Given the description of an element on the screen output the (x, y) to click on. 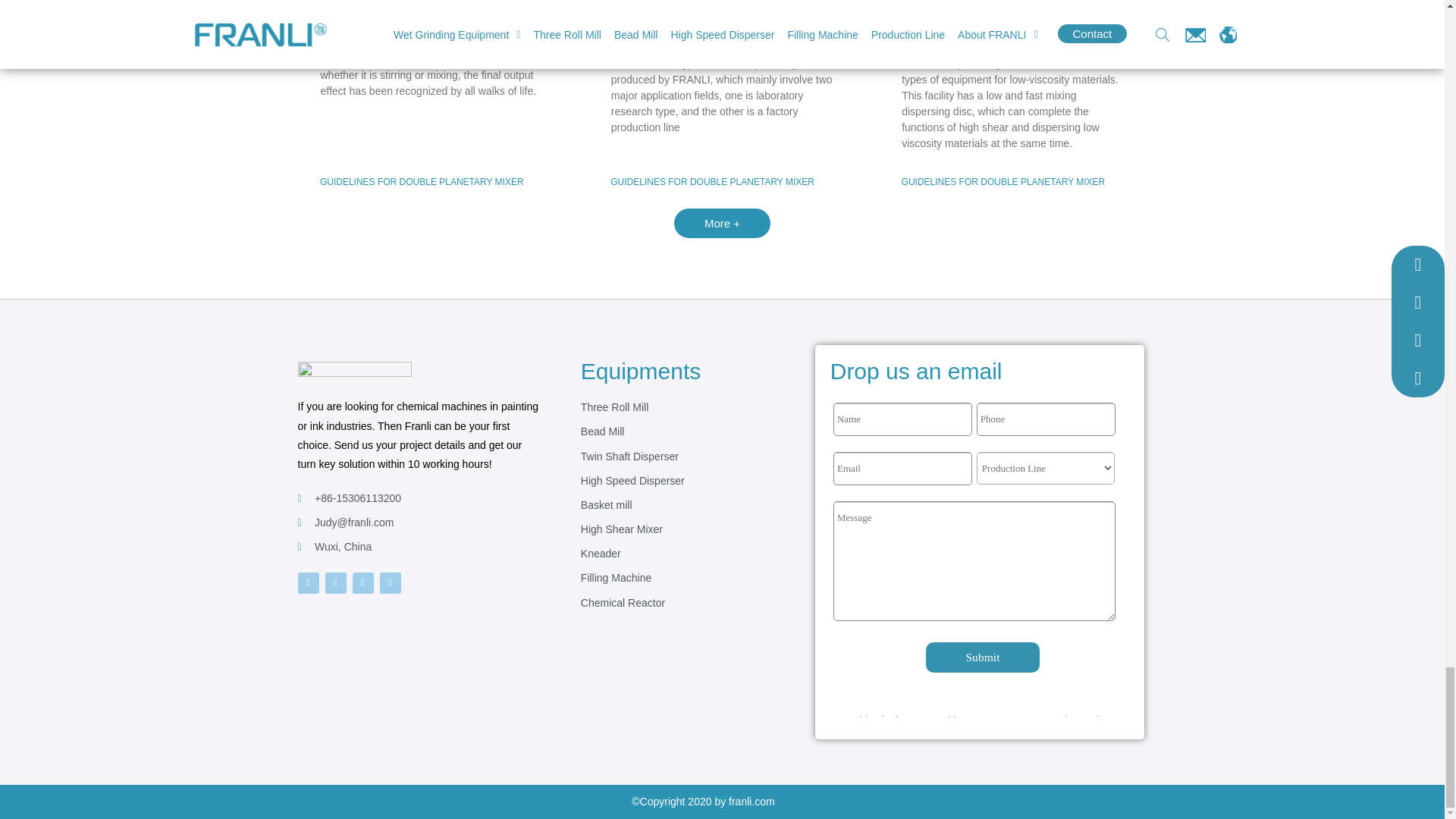
Embedded Wufoo Form (979, 557)
